Given the description of an element on the screen output the (x, y) to click on. 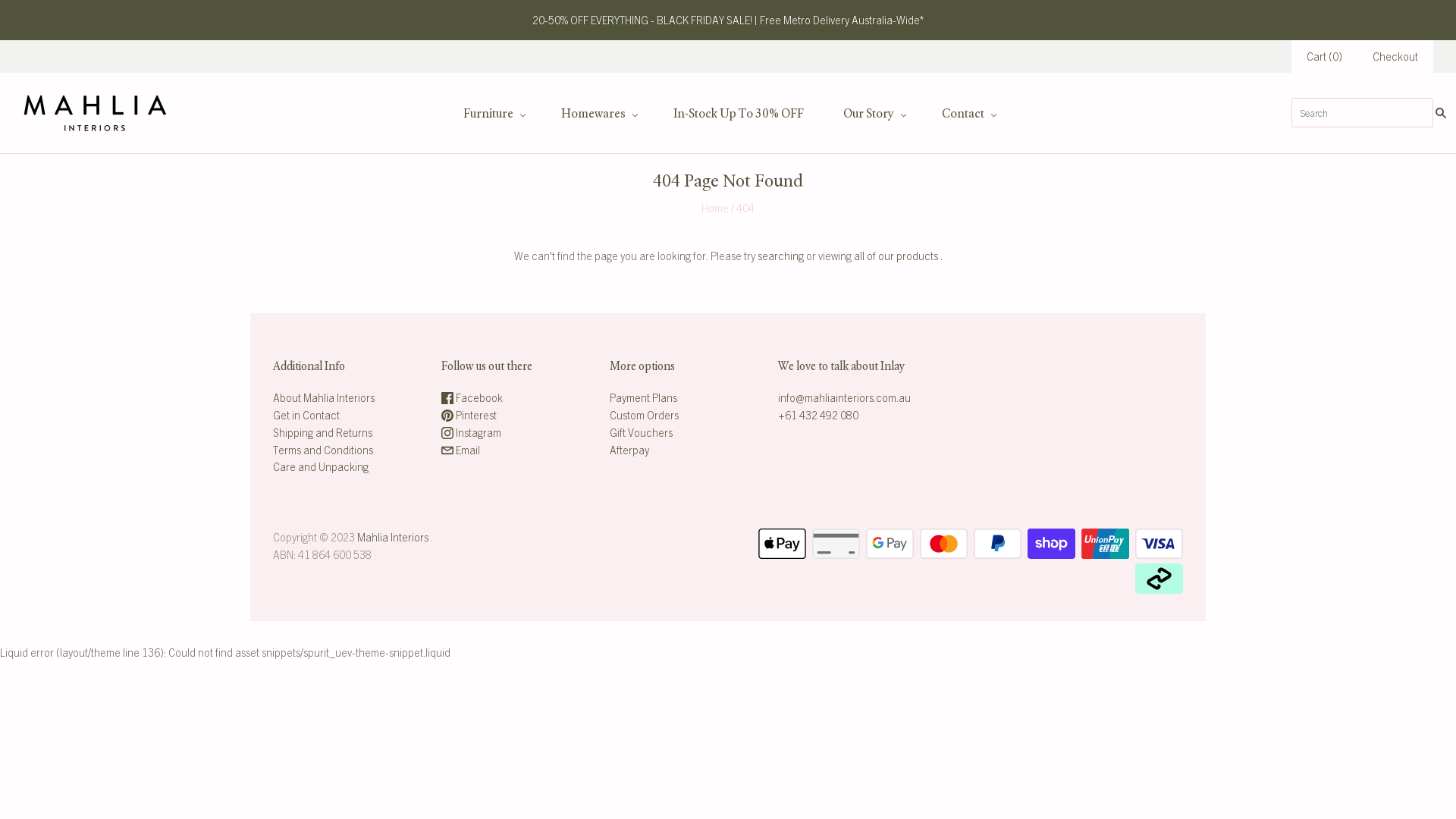
Instagram Element type: text (471, 432)
Care and Unpacking Element type: text (320, 466)
+61 432 492 080 Element type: text (818, 414)
Contact Element type: text (967, 113)
Checkout Element type: text (1395, 56)
Terms and Conditions Element type: text (323, 449)
all of our products Element type: text (895, 255)
Custom Orders Element type: text (643, 414)
Our Story Element type: text (872, 113)
In-Stock Up To 30% OFF Element type: text (738, 113)
Mahlia Interiors Element type: text (392, 536)
info@mahliainteriors.com.au Element type: text (844, 397)
Payment Plans Element type: text (643, 397)
Get in Contact Element type: text (306, 414)
Cart (0) Element type: text (1324, 56)
Home Element type: text (714, 207)
Shipping and Returns Element type: text (322, 432)
Facebook Element type: text (471, 397)
Email Element type: text (460, 449)
Gift Vouchers Element type: text (640, 432)
Pinterest Element type: text (468, 414)
searching Element type: text (779, 255)
About Mahlia Interiors Element type: text (323, 397)
Furniture Element type: text (492, 113)
Homewares Element type: text (597, 113)
